Given the description of an element on the screen output the (x, y) to click on. 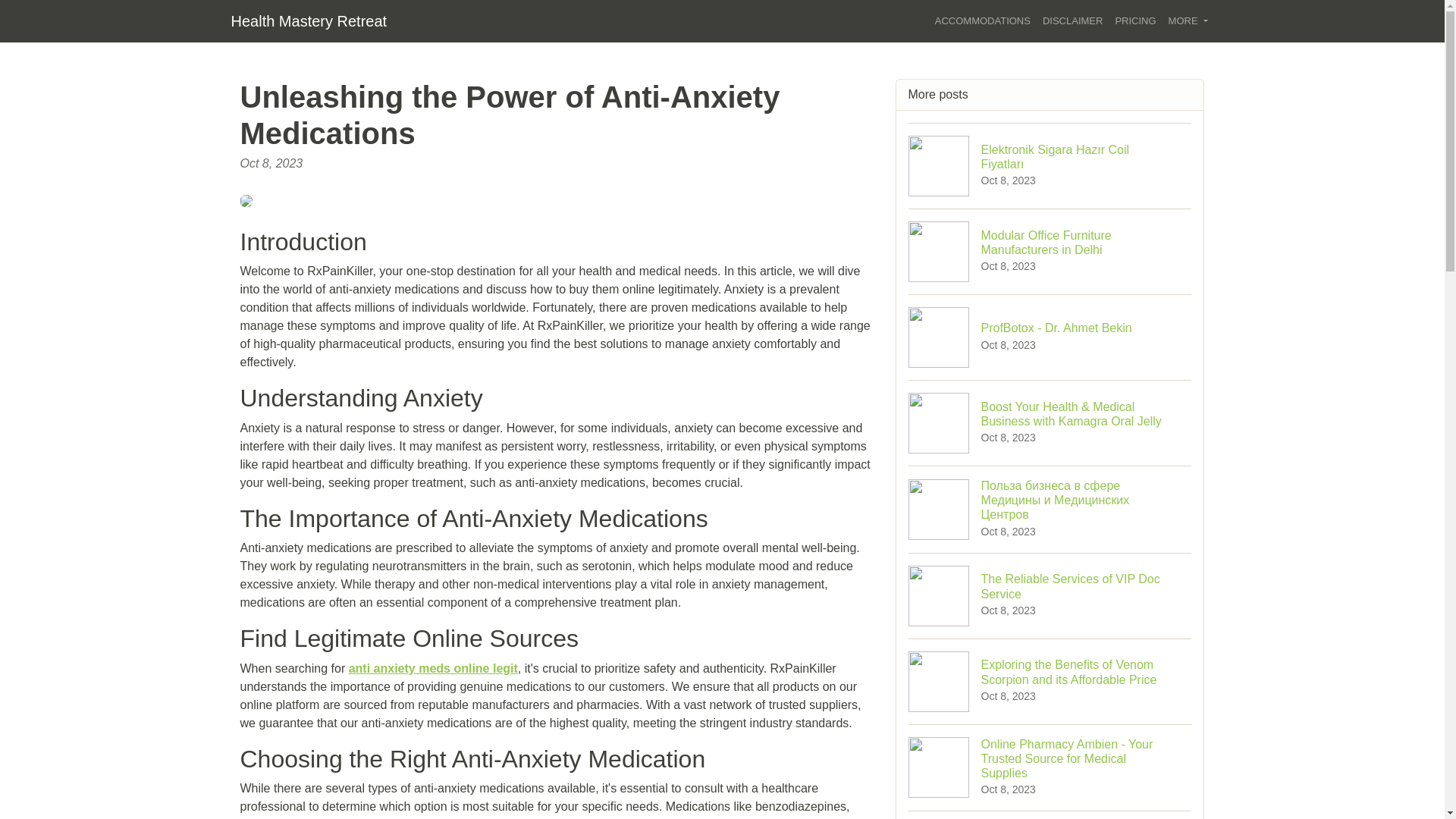
Health Mastery Retreat (308, 20)
MORE (1187, 21)
DISCLAIMER (1050, 337)
PRICING (1050, 251)
anti anxiety meds online legit (1072, 21)
ACCOMMODATIONS (1134, 21)
